Given the description of an element on the screen output the (x, y) to click on. 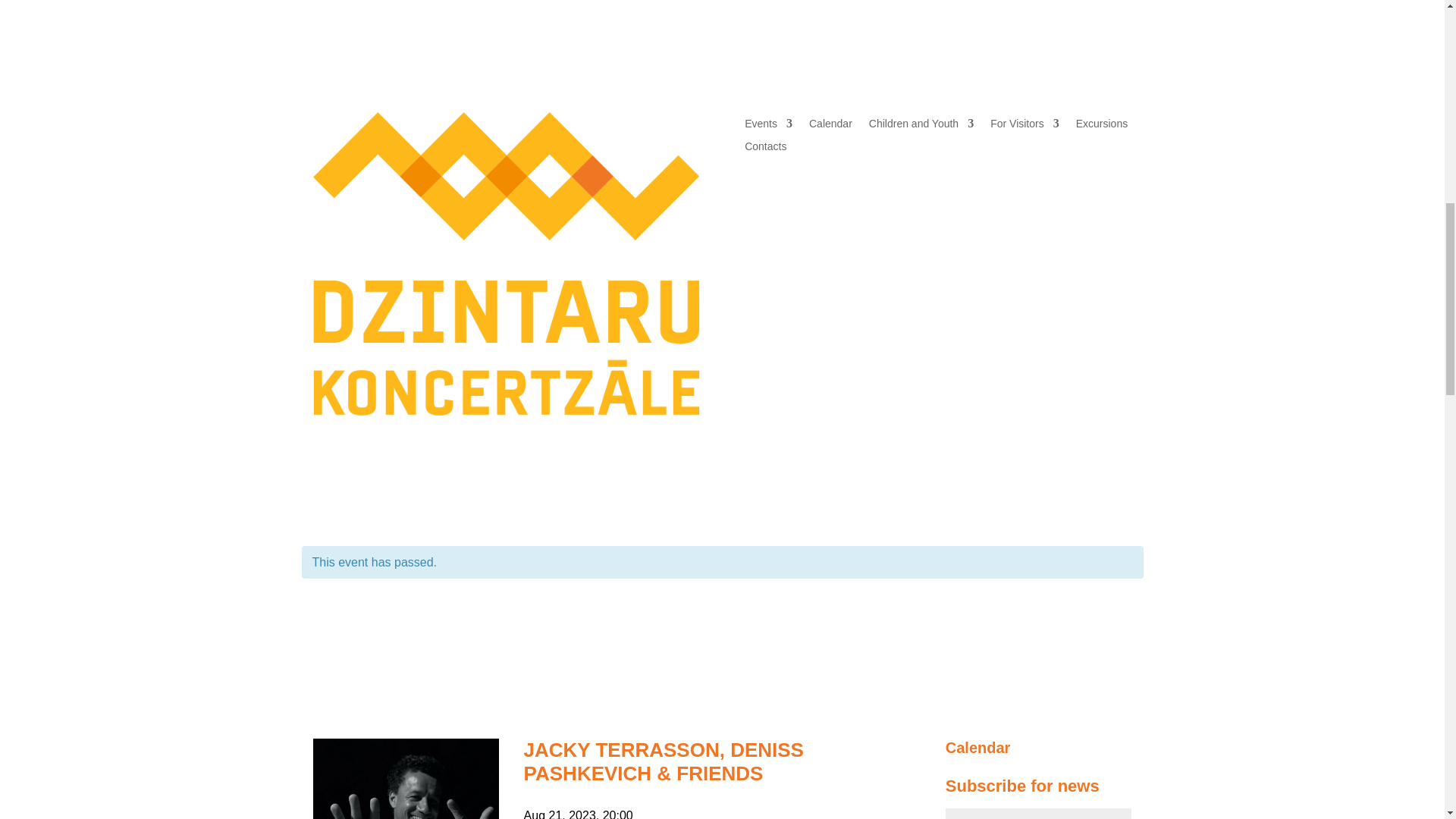
Events (768, 126)
Calendar (830, 126)
DzK logo (505, 263)
JT (406, 778)
